Given the description of an element on the screen output the (x, y) to click on. 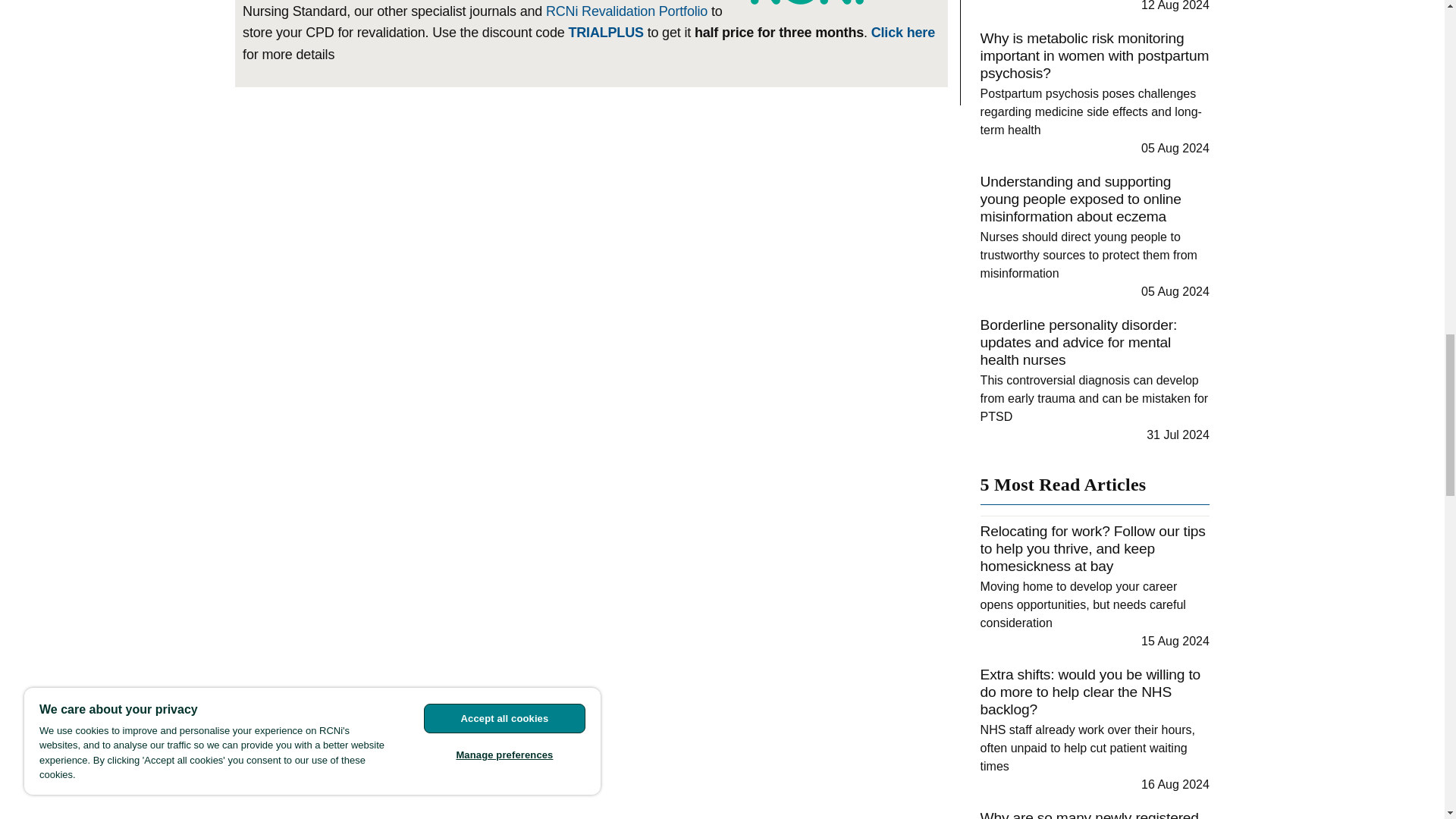
RCNi Portfolio (626, 11)
RCNi Plus Trialplus Promotion (902, 32)
RCNi Plus Trialplus Promotion (605, 32)
